Given the description of an element on the screen output the (x, y) to click on. 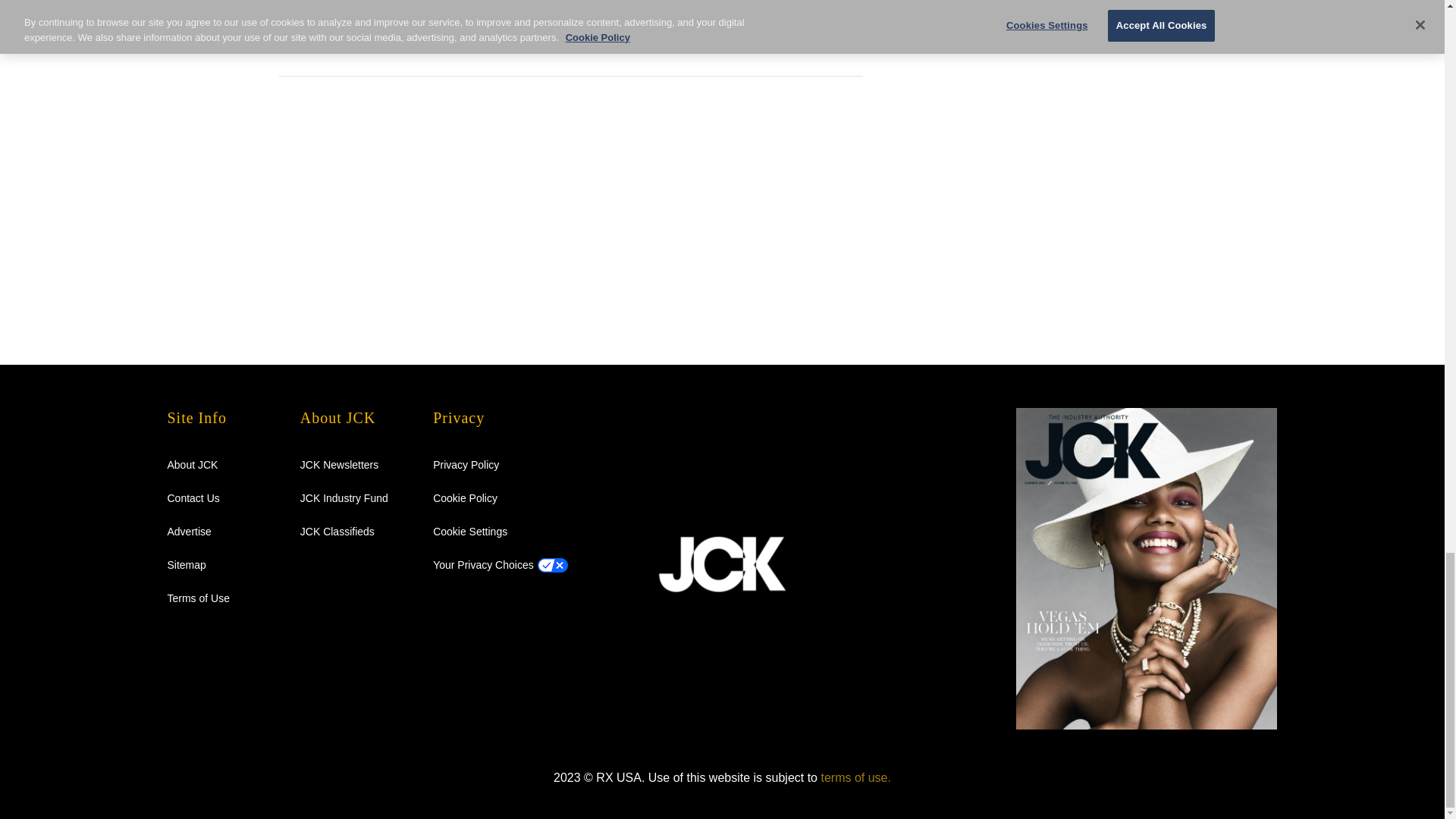
privacy-choices (483, 564)
3rd party ad content (1037, 22)
